Given the description of an element on the screen output the (x, y) to click on. 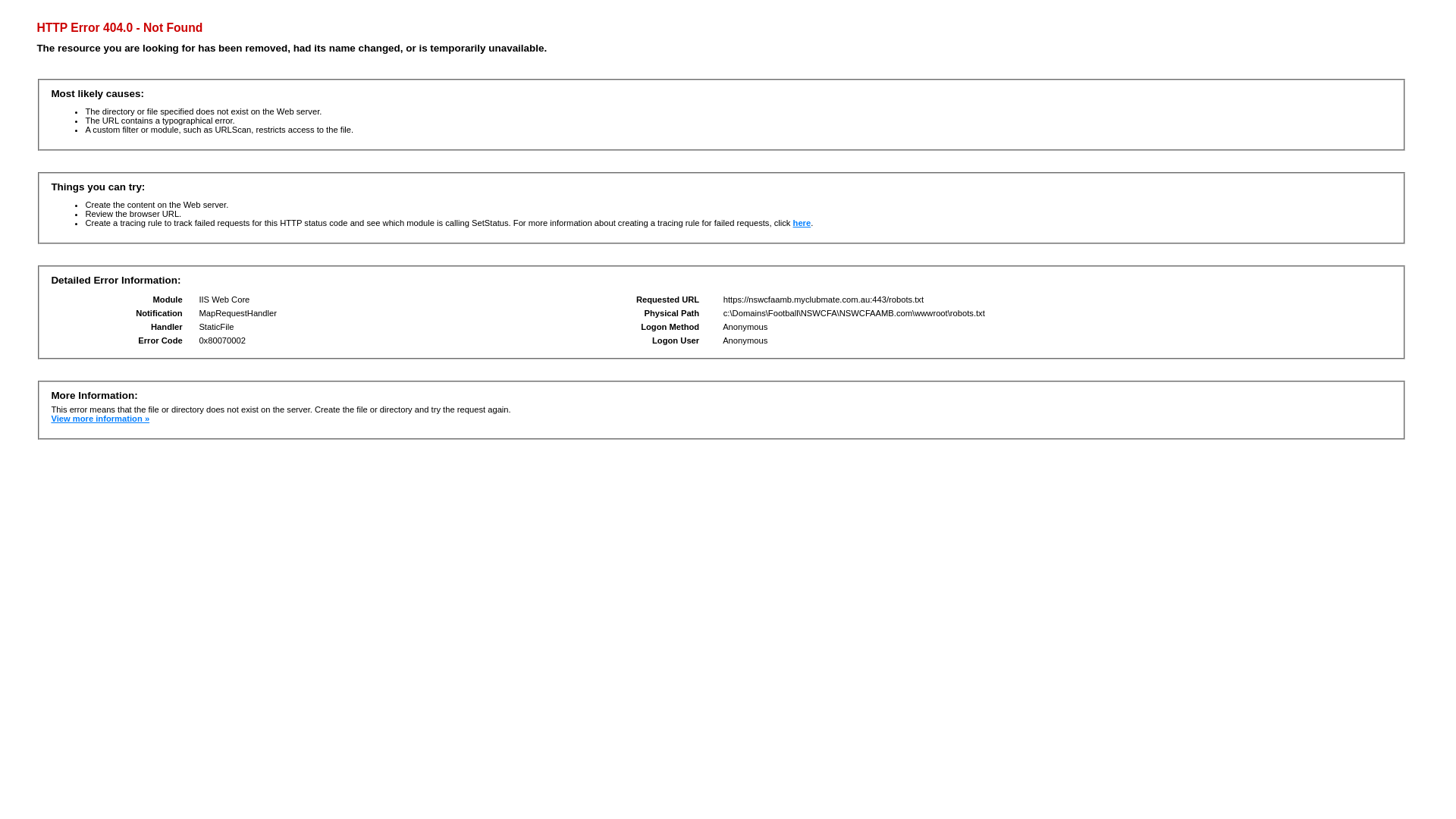
here Element type: text (802, 222)
